Given the description of an element on the screen output the (x, y) to click on. 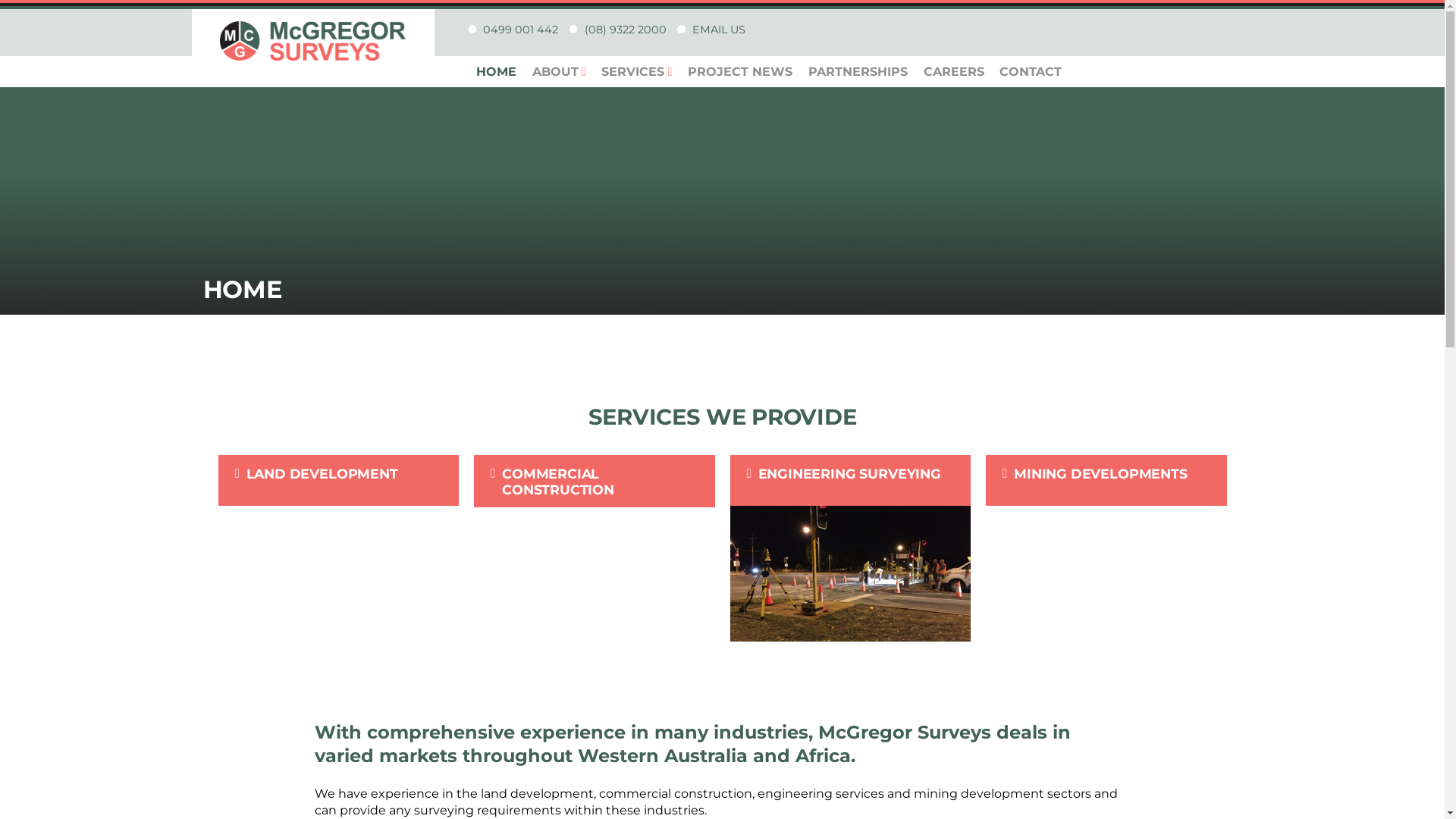
HOME Element type: text (496, 71)
CONTACT Element type: text (1030, 71)
ENGINEERING SURVEYING Element type: text (849, 547)
COMMERCIAL CONSTRUCTION Element type: text (594, 548)
SERVICES Element type: text (636, 71)
(08) 9322 2000 Element type: text (625, 29)
LAND DEVELOPMENT Element type: text (338, 547)
CAREERS Element type: text (953, 71)
PARTNERSHIPS Element type: text (857, 71)
ABOUT Element type: text (558, 71)
PROJECT NEWS Element type: text (740, 71)
MINING DEVELOPMENTS Element type: text (1105, 547)
EMAIL US Element type: text (718, 29)
0499 001 442 Element type: text (520, 29)
